Given the description of an element on the screen output the (x, y) to click on. 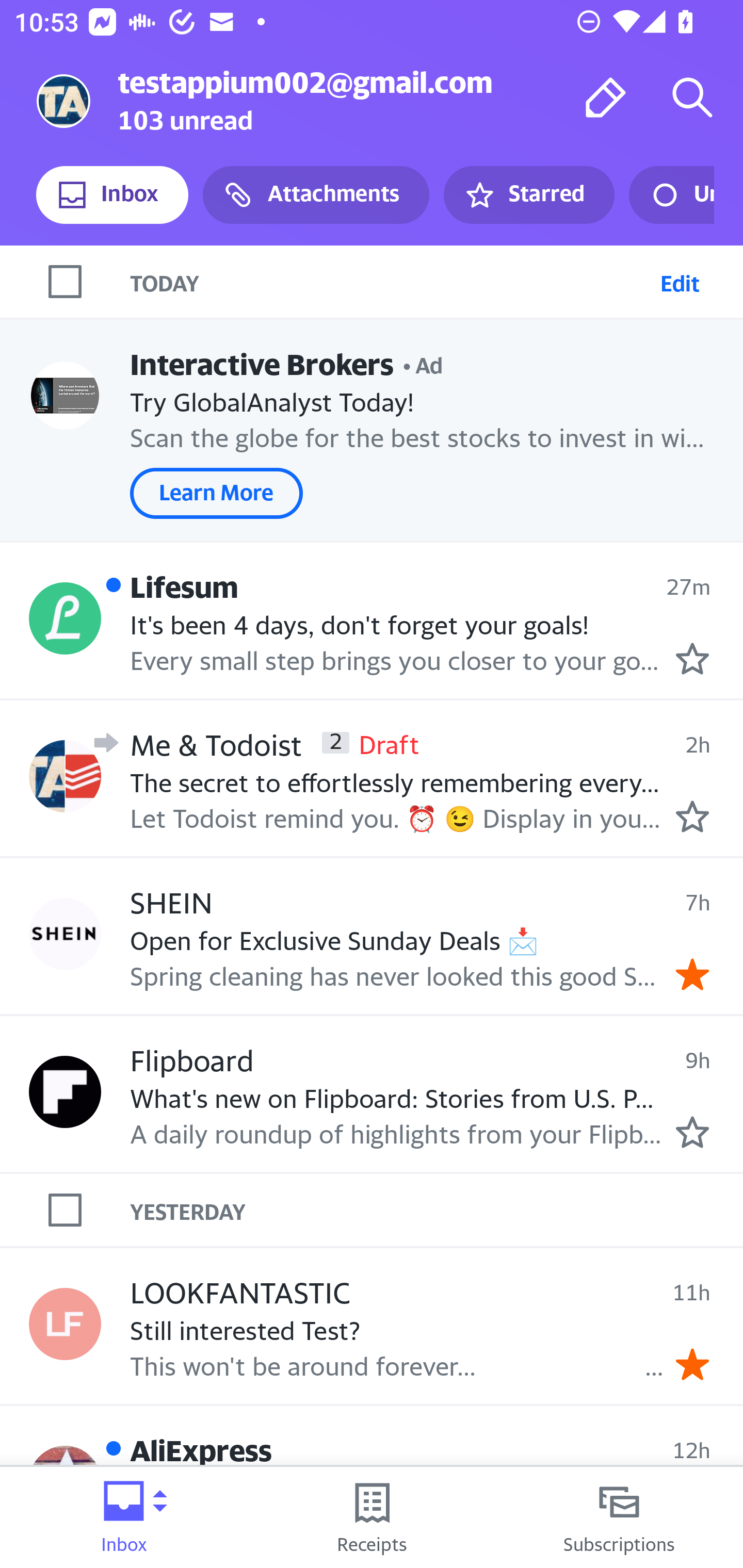
Compose (605, 97)
Search mail (692, 97)
Attachments (315, 195)
Starred (528, 195)
TODAY (391, 281)
Edit Select emails (679, 281)
Profile
Lifesum (64, 617)
Mark as starred. (692, 659)
Profile
Me & Todoist (64, 776)
Mark as starred. (692, 816)
Profile
SHEIN (64, 934)
Remove star. (692, 974)
Profile
Flipboard (64, 1091)
Mark as starred. (692, 1132)
YESTERDAY (436, 1209)
Profile
LOOKFANTASTIC (64, 1323)
Remove star. (692, 1364)
Inbox Folder picker (123, 1517)
Receipts (371, 1517)
Subscriptions (619, 1517)
